Given the description of an element on the screen output the (x, y) to click on. 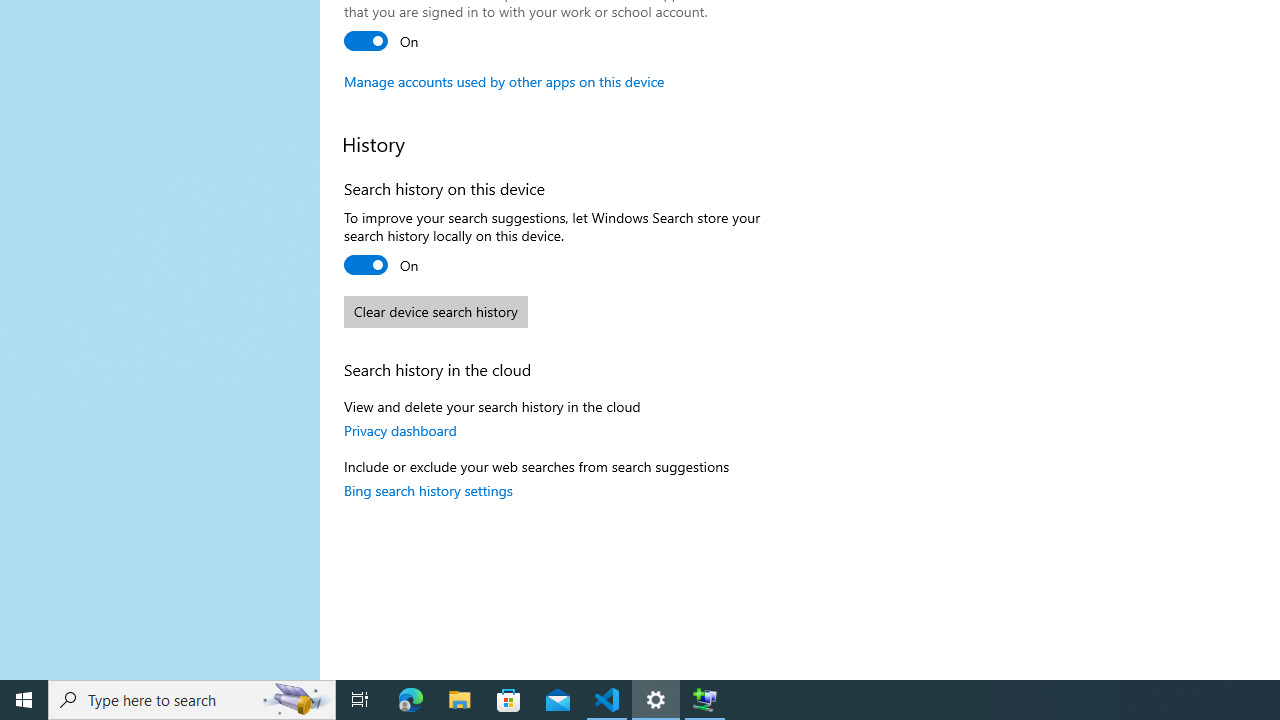
Settings - 1 running window (656, 699)
Clear device search history (435, 311)
Extensible Wizards Host Process - 1 running window (704, 699)
Bing search history settings (428, 489)
Work or School account (381, 40)
Search history on this device (381, 264)
Manage accounts used by other apps on this device (504, 81)
